Given the description of an element on the screen output the (x, y) to click on. 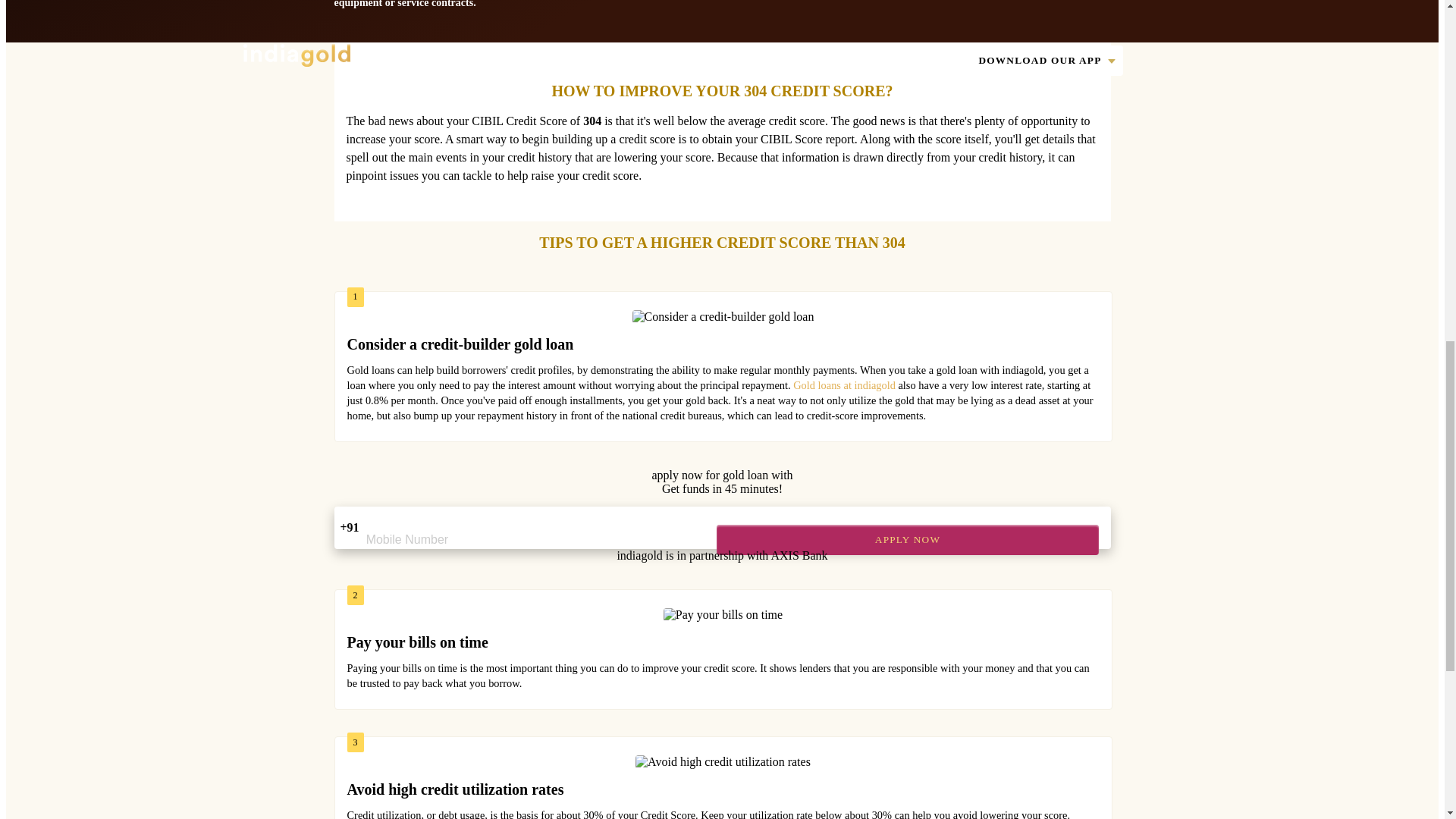
APPLY NOW (906, 539)
